Given the description of an element on the screen output the (x, y) to click on. 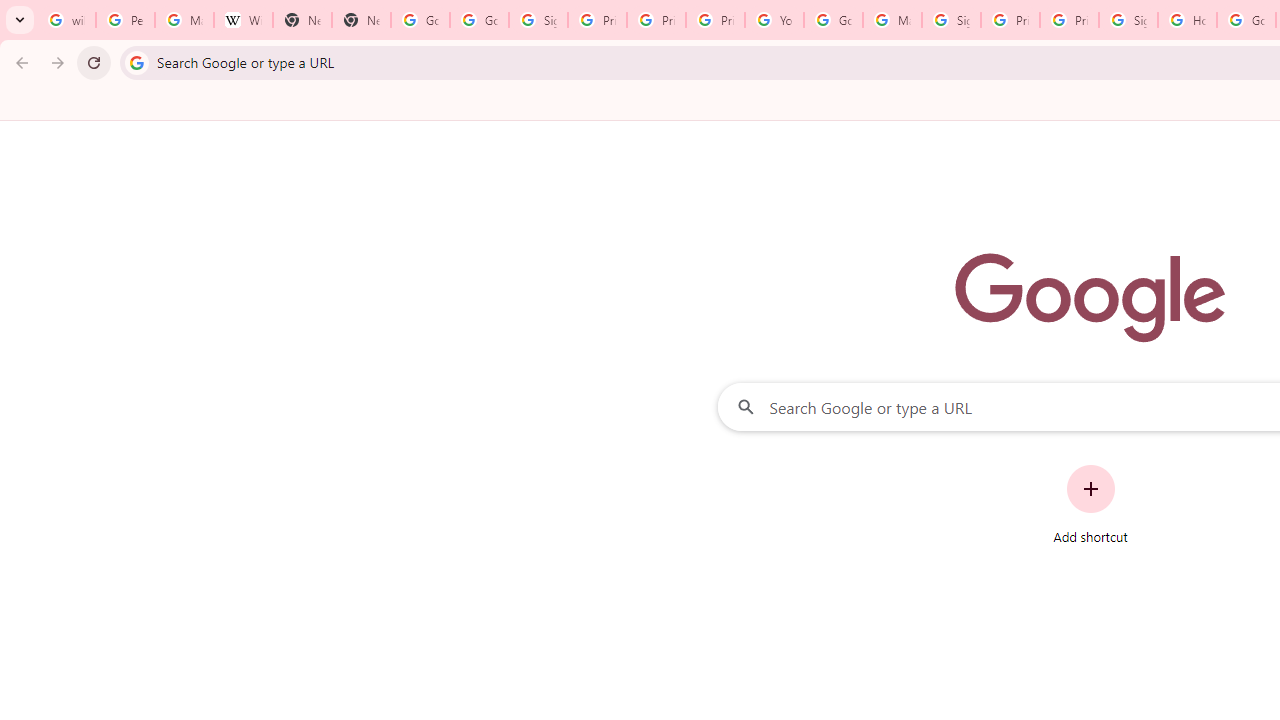
Manage your Location History - Google Search Help (183, 20)
New Tab (301, 20)
Sign in - Google Accounts (1128, 20)
Personalization & Google Search results - Google Search Help (125, 20)
Sign in - Google Accounts (538, 20)
New Tab (360, 20)
